Given the description of an element on the screen output the (x, y) to click on. 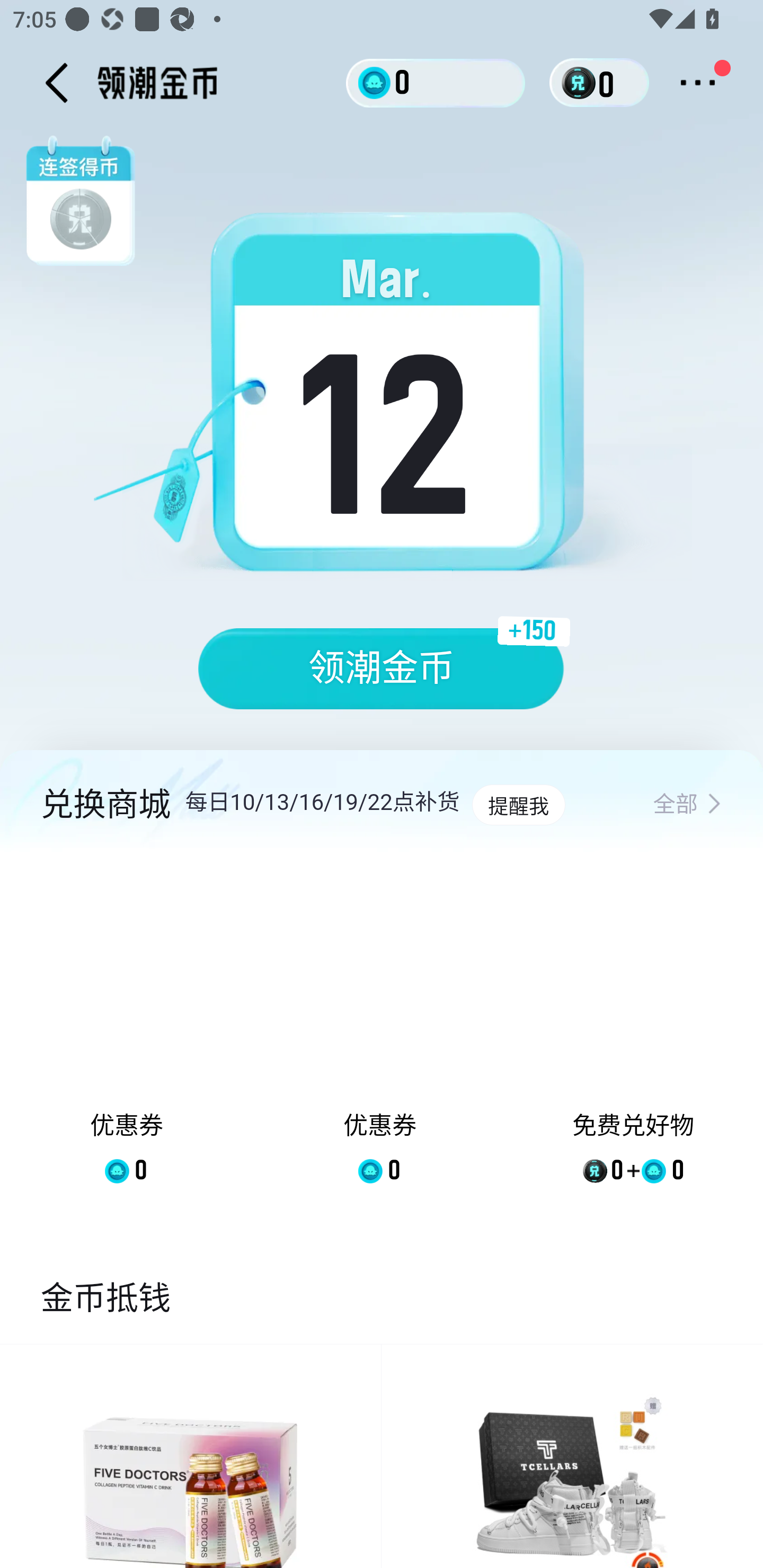
0 (435, 82)
format,webp 0 (581, 83)
领潮金币 + 150 (381, 668)
提醒我 (518, 805)
全部 (687, 804)
优惠券 0 (127, 1031)
优惠券 0 (379, 1031)
免费兑好物 0 0 (633, 1031)
